Given the description of an element on the screen output the (x, y) to click on. 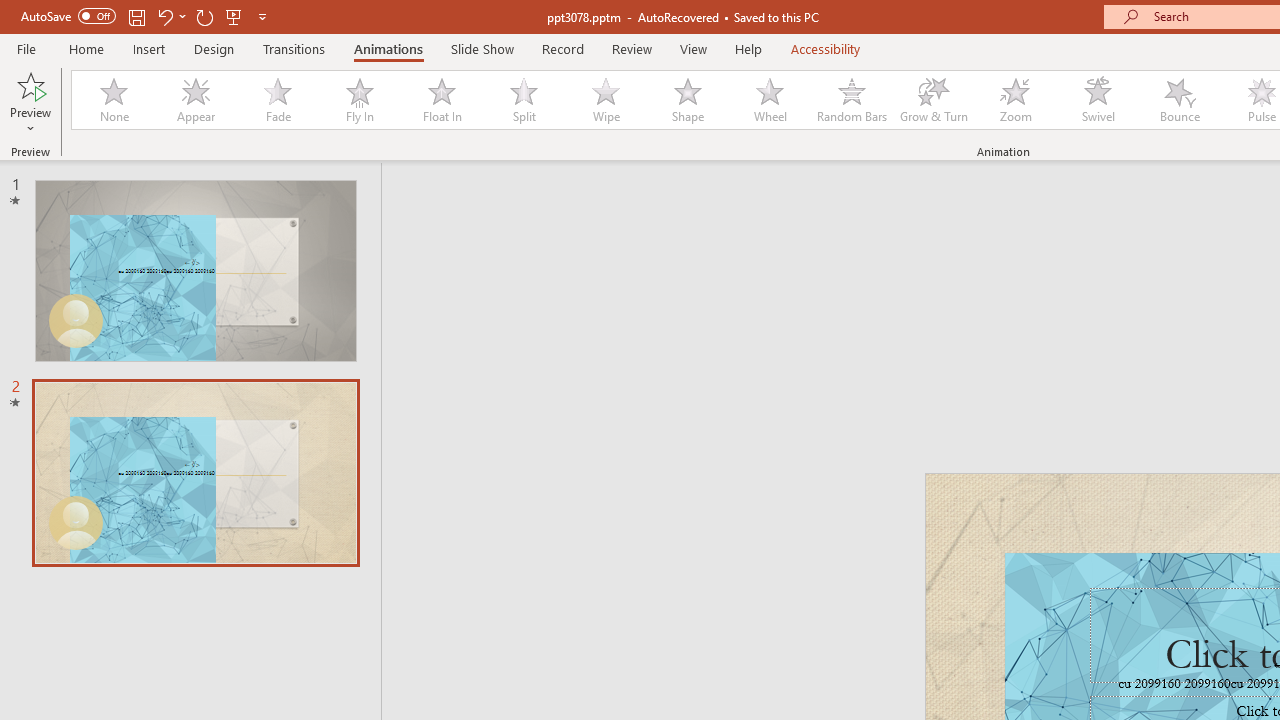
Swivel (1098, 100)
Bounce (1180, 100)
Wipe (605, 100)
Appear (195, 100)
